Given the description of an element on the screen output the (x, y) to click on. 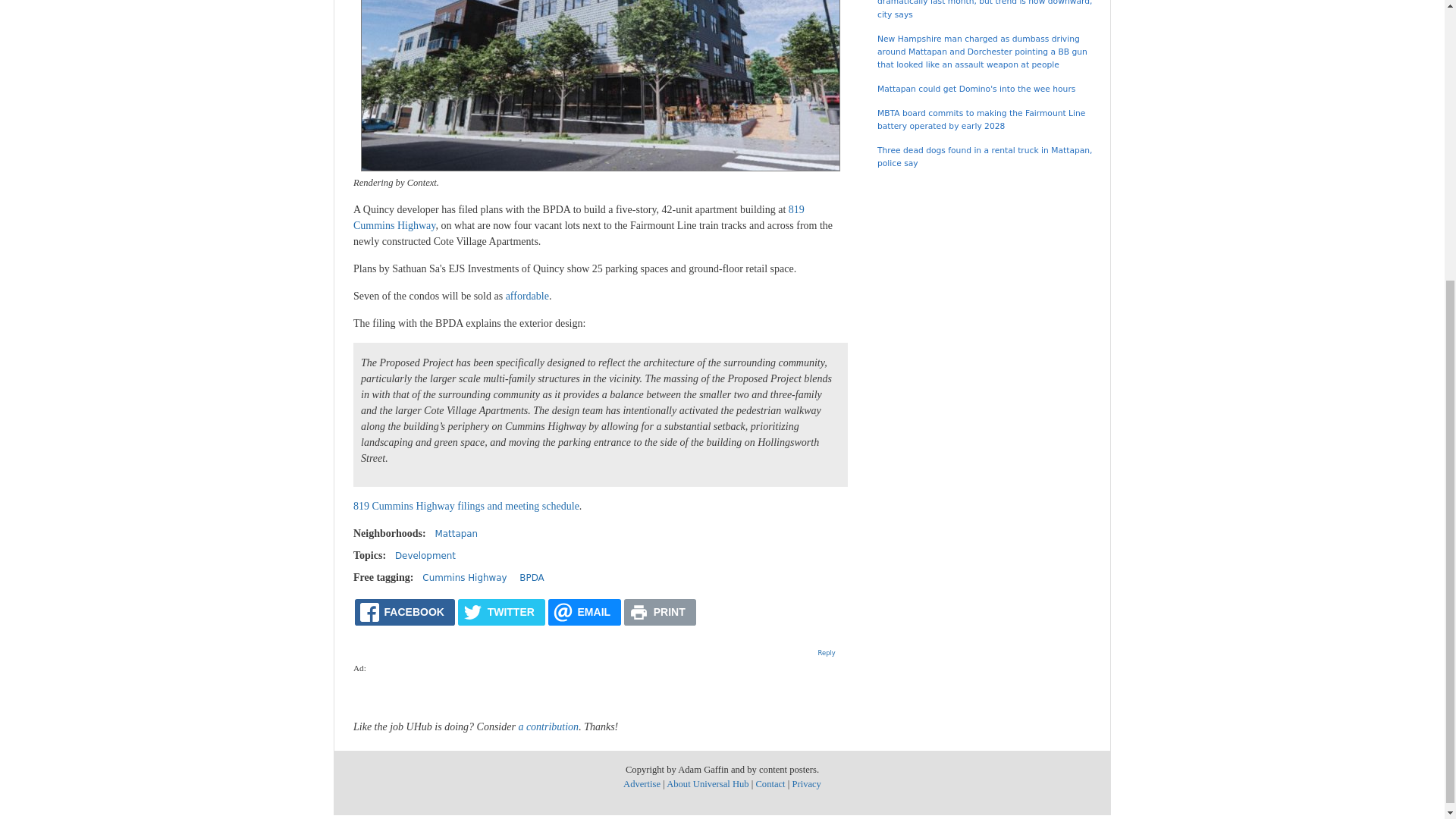
FACEBOOK (404, 611)
Mattapan (457, 533)
Reply (826, 652)
TWITTER (501, 611)
Development (424, 555)
Share your thoughts and opinions related to this posting. (826, 652)
EMAIL (584, 611)
PRINT (659, 611)
